Given the description of an element on the screen output the (x, y) to click on. 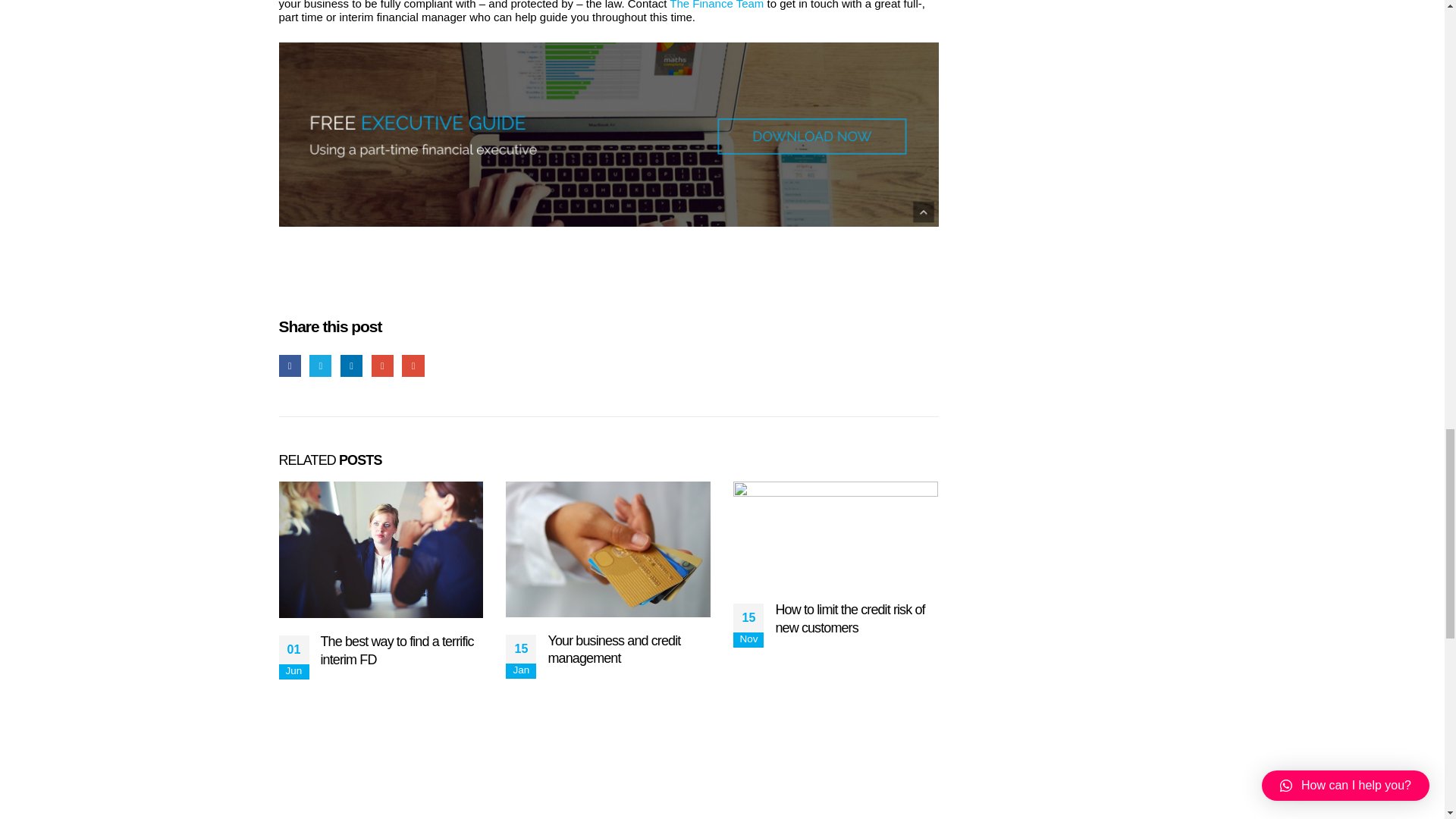
Email (412, 365)
LinkedIn (351, 365)
Facebook (290, 365)
Twitter (319, 365)
